Given the description of an element on the screen output the (x, y) to click on. 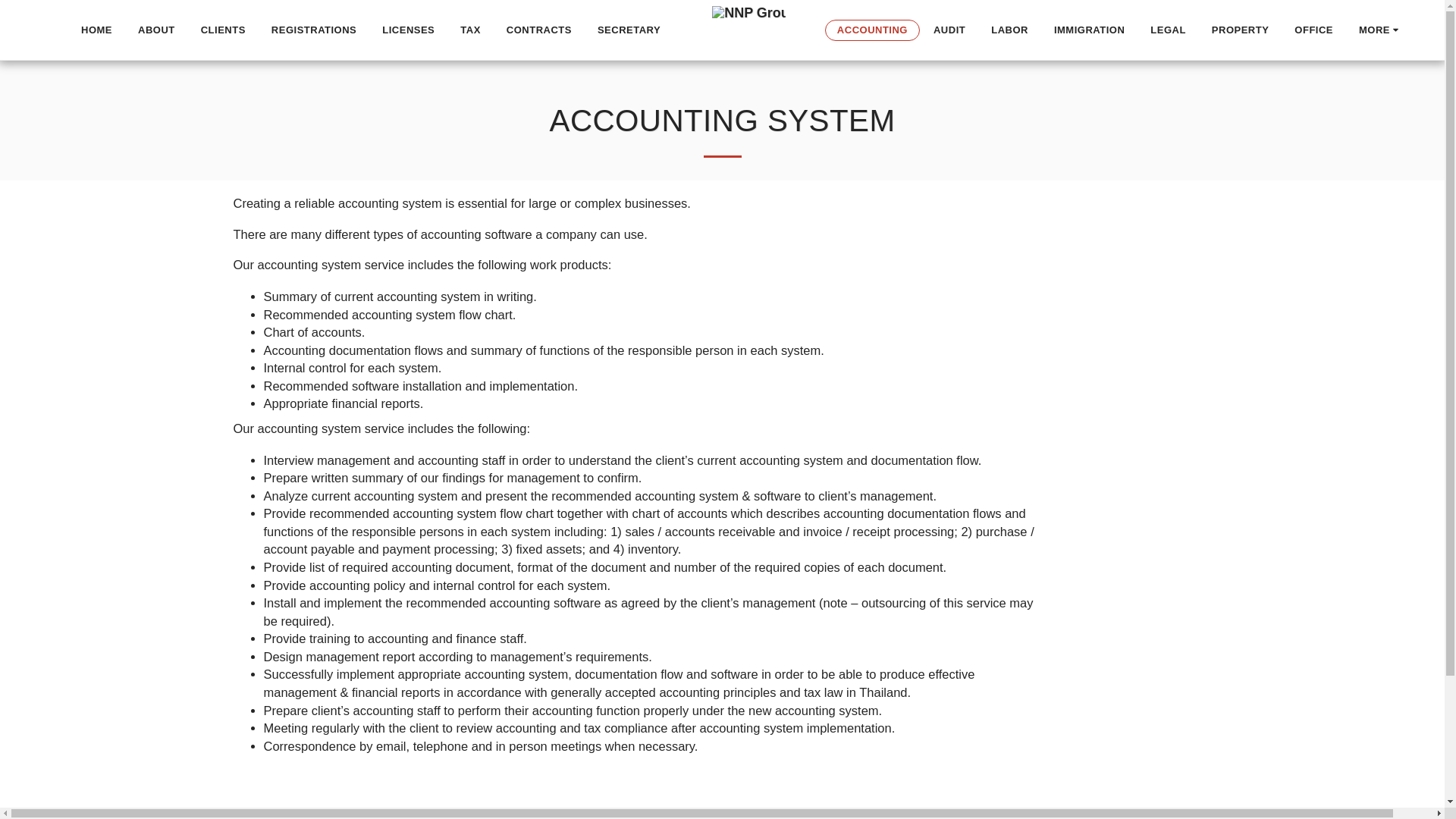
OFFICE (1313, 29)
AUDIT (948, 29)
CLIENTS (223, 29)
ABOUT (156, 29)
HOME (95, 29)
ACCOUNTING (872, 29)
LEGAL (1168, 29)
TAX (470, 29)
PROPERTY (1240, 29)
CONTRACTS (539, 29)
